Given the description of an element on the screen output the (x, y) to click on. 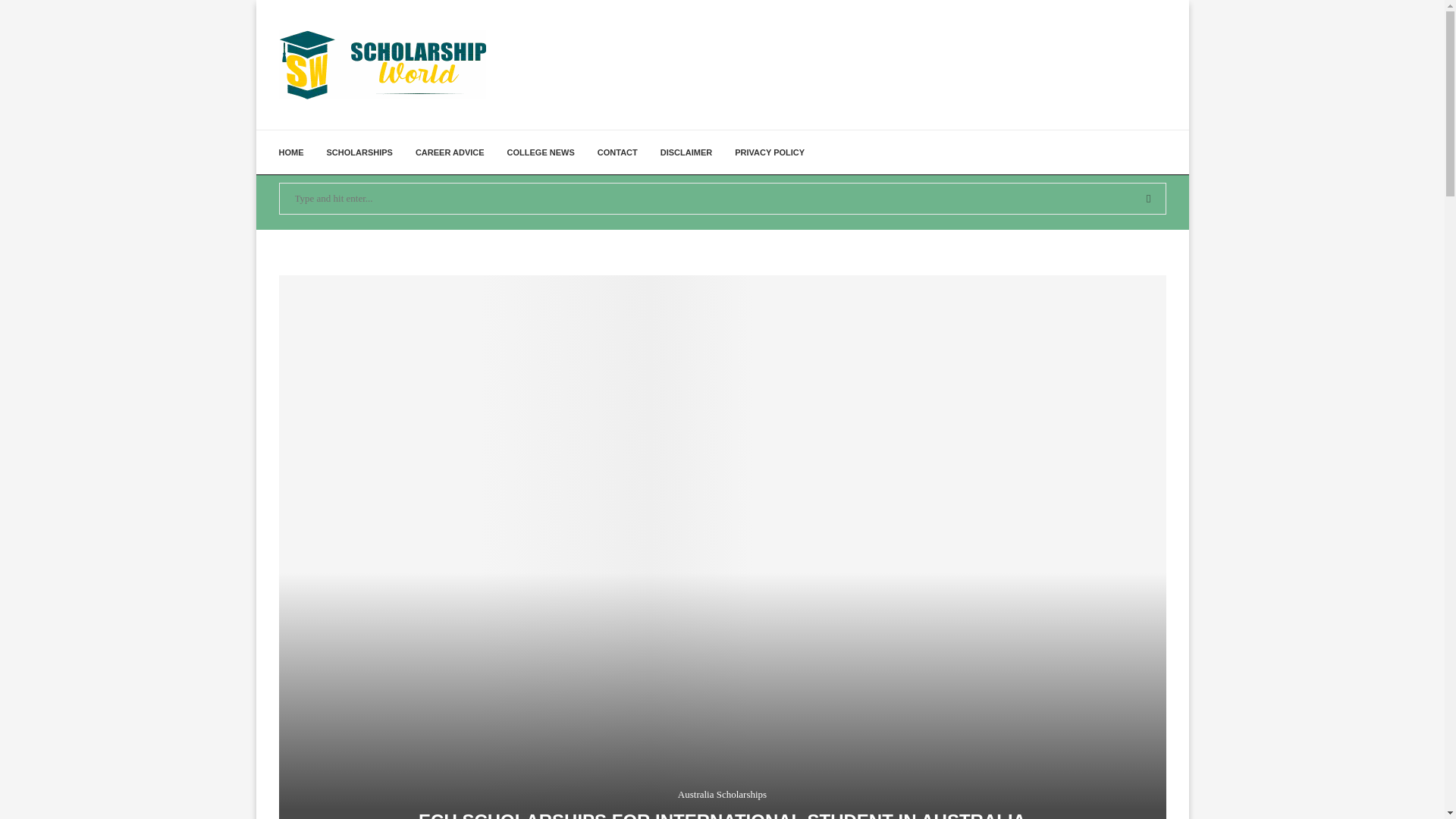
COLLEGE NEWS (540, 152)
Search (443, 15)
PRIVACY POLICY (770, 152)
SCHOLARSHIPS (358, 152)
CAREER ADVICE (449, 152)
CONTACT (616, 152)
DISCLAIMER (686, 152)
Australia Scholarships (722, 794)
